Given the description of an element on the screen output the (x, y) to click on. 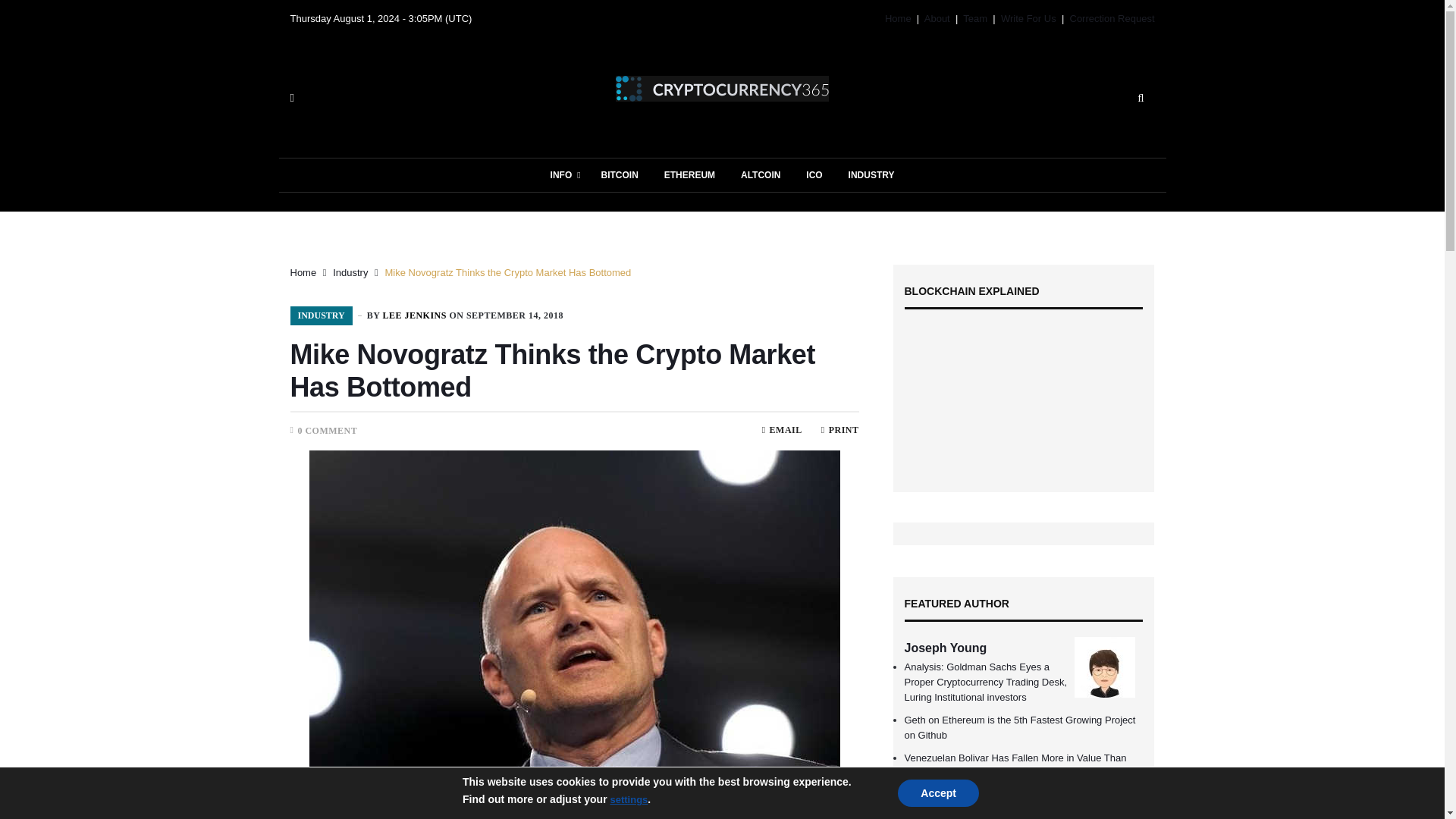
Home (898, 18)
Write For Us (1029, 18)
Posts by Joseph Young (945, 647)
Team (974, 18)
About (937, 18)
Posts by Lee Jenkins (413, 315)
